Given the description of an element on the screen output the (x, y) to click on. 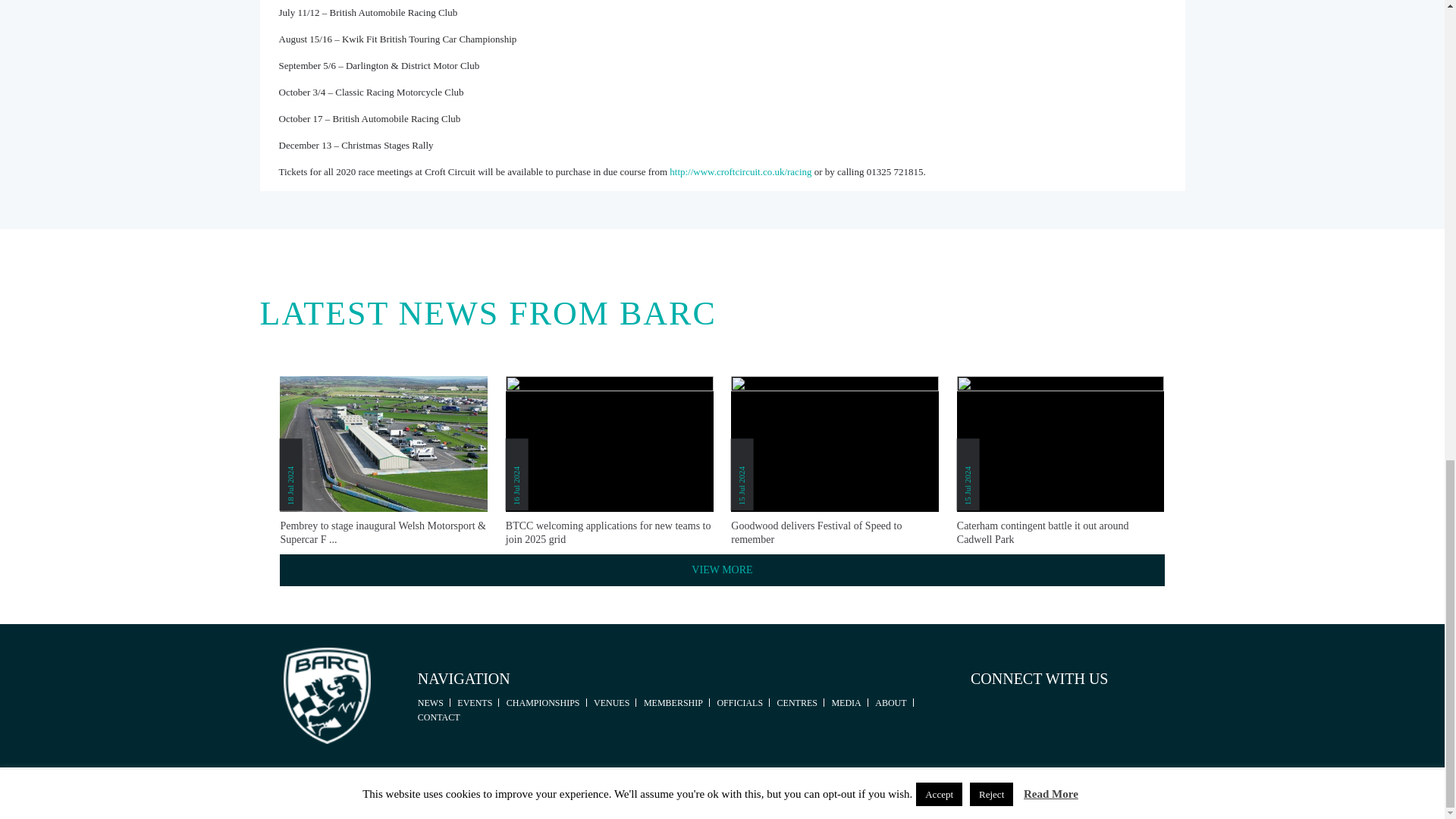
Caterham contingent battle it out around Cadwell Park (1060, 533)
CHAMPIONSHIPS (542, 701)
NEWS (430, 701)
VIEW MORE (721, 570)
BTCC welcoming applications for new teams to join 2025 grid (609, 533)
EVENTS (474, 701)
Goodwood delivers Festival of Speed to remember (834, 533)
